Given the description of an element on the screen output the (x, y) to click on. 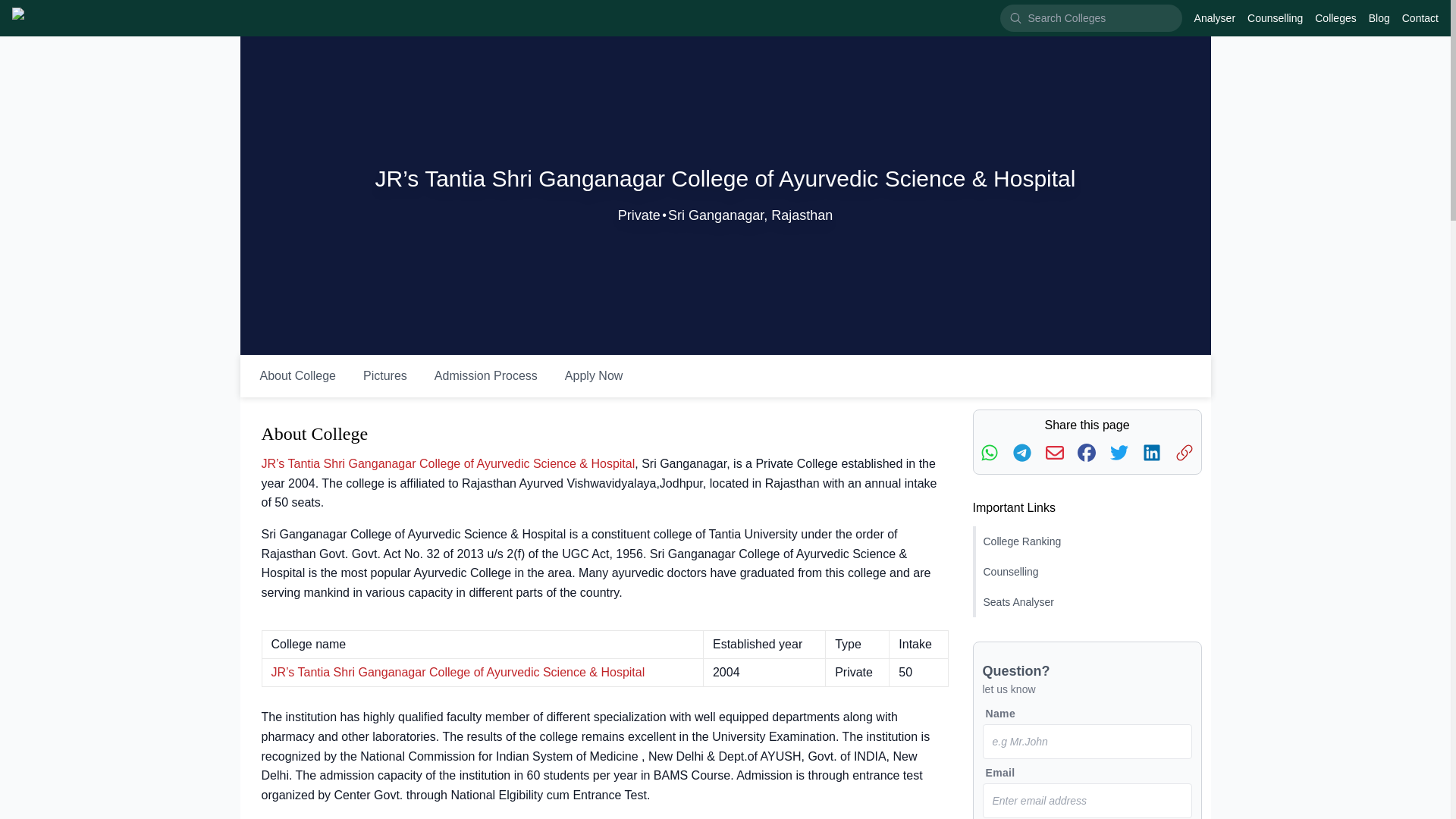
College Ranking (1086, 541)
Analyser (1213, 17)
Admission Process (486, 376)
Colleges (1334, 17)
About College (297, 376)
Seats Analyser (1086, 602)
Contact (1420, 17)
Counselling (1086, 571)
Counselling (1275, 17)
Pictures (384, 376)
Apply Now (593, 376)
Blog (1379, 17)
